Given the description of an element on the screen output the (x, y) to click on. 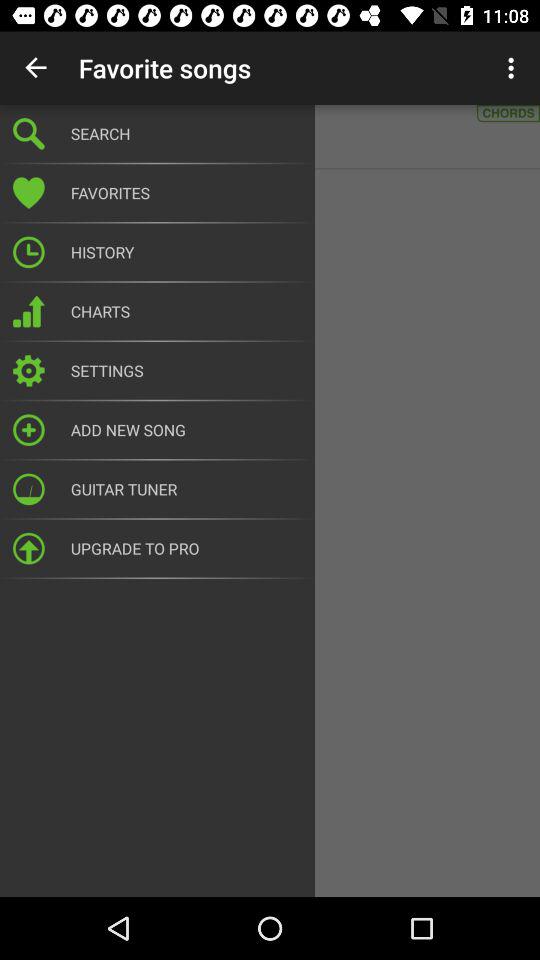
turn off icon next to the favorite songs item (36, 68)
